Given the description of an element on the screen output the (x, y) to click on. 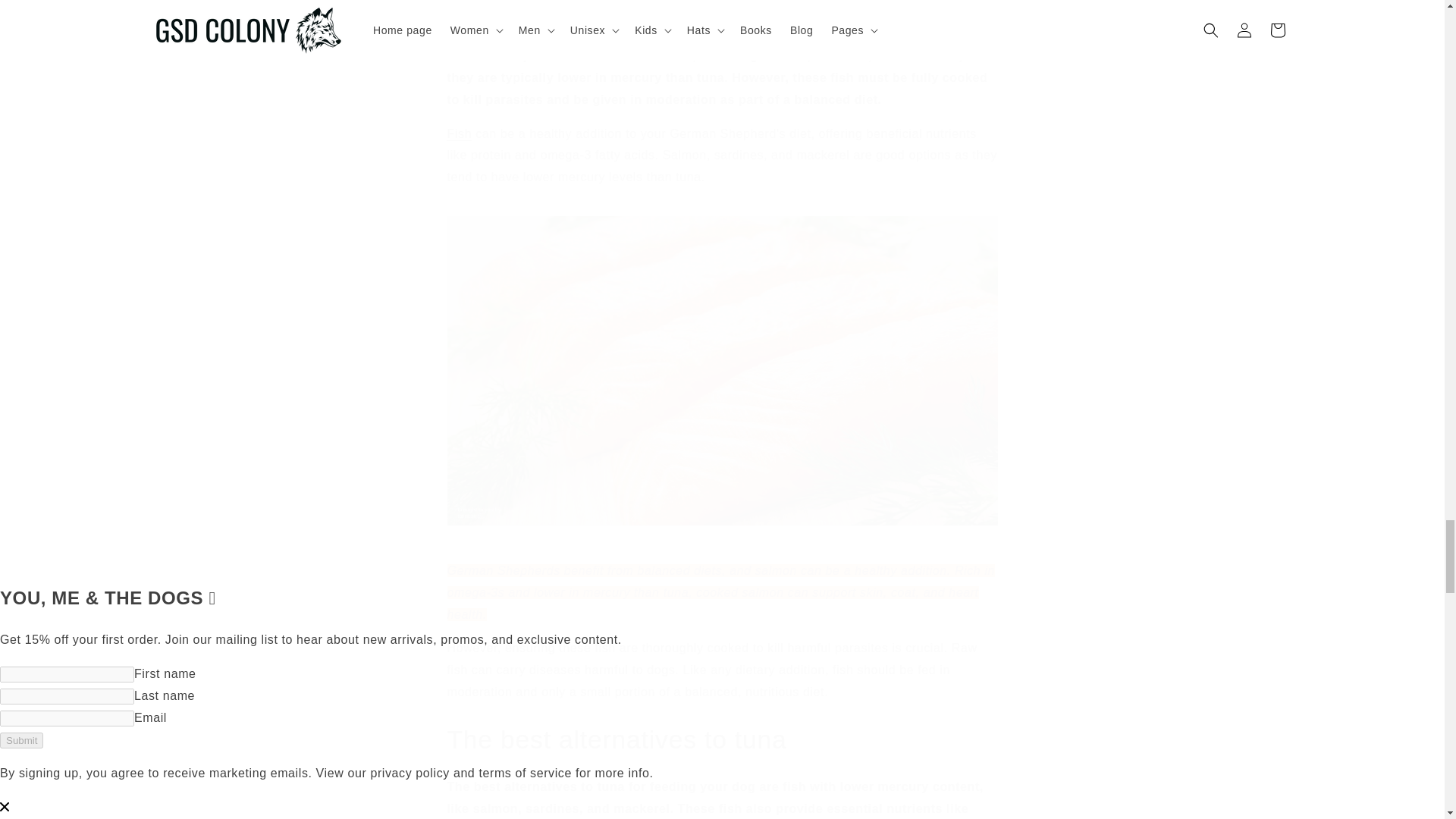
Safe fish for dogs (458, 133)
